Given the description of an element on the screen output the (x, y) to click on. 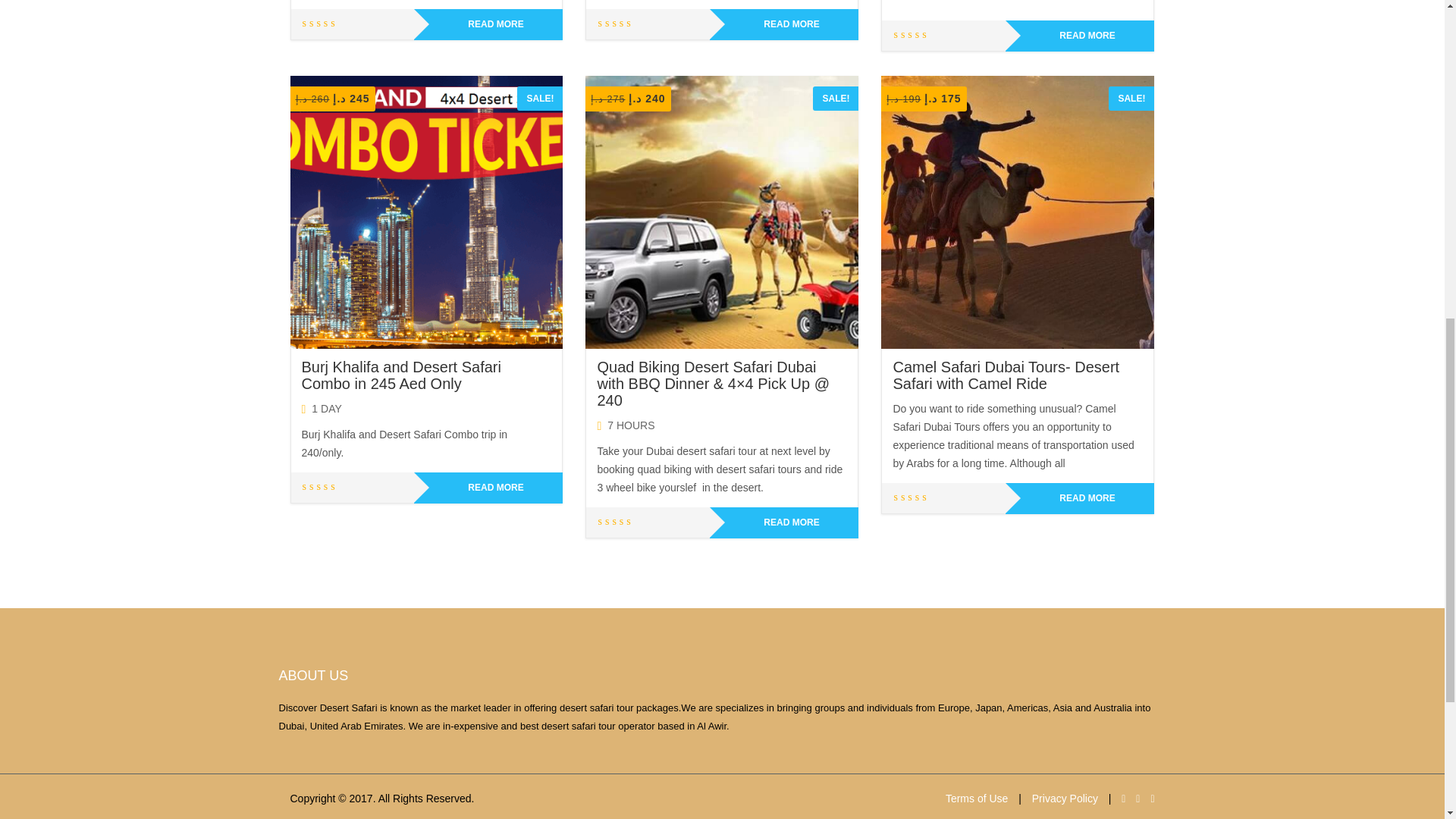
Terms of Use (975, 798)
Camel Safari Dubai Tours- Desert Safari with Camel Ride (1005, 375)
Burj Khalifa and Desert Safari Combo in 245 Aed Only (400, 375)
Privacy Policy (1064, 798)
READ MORE (1080, 35)
READ MORE (1080, 498)
READ MORE (488, 487)
READ MORE (784, 24)
READ MORE (488, 24)
READ MORE (784, 522)
